Given the description of an element on the screen output the (x, y) to click on. 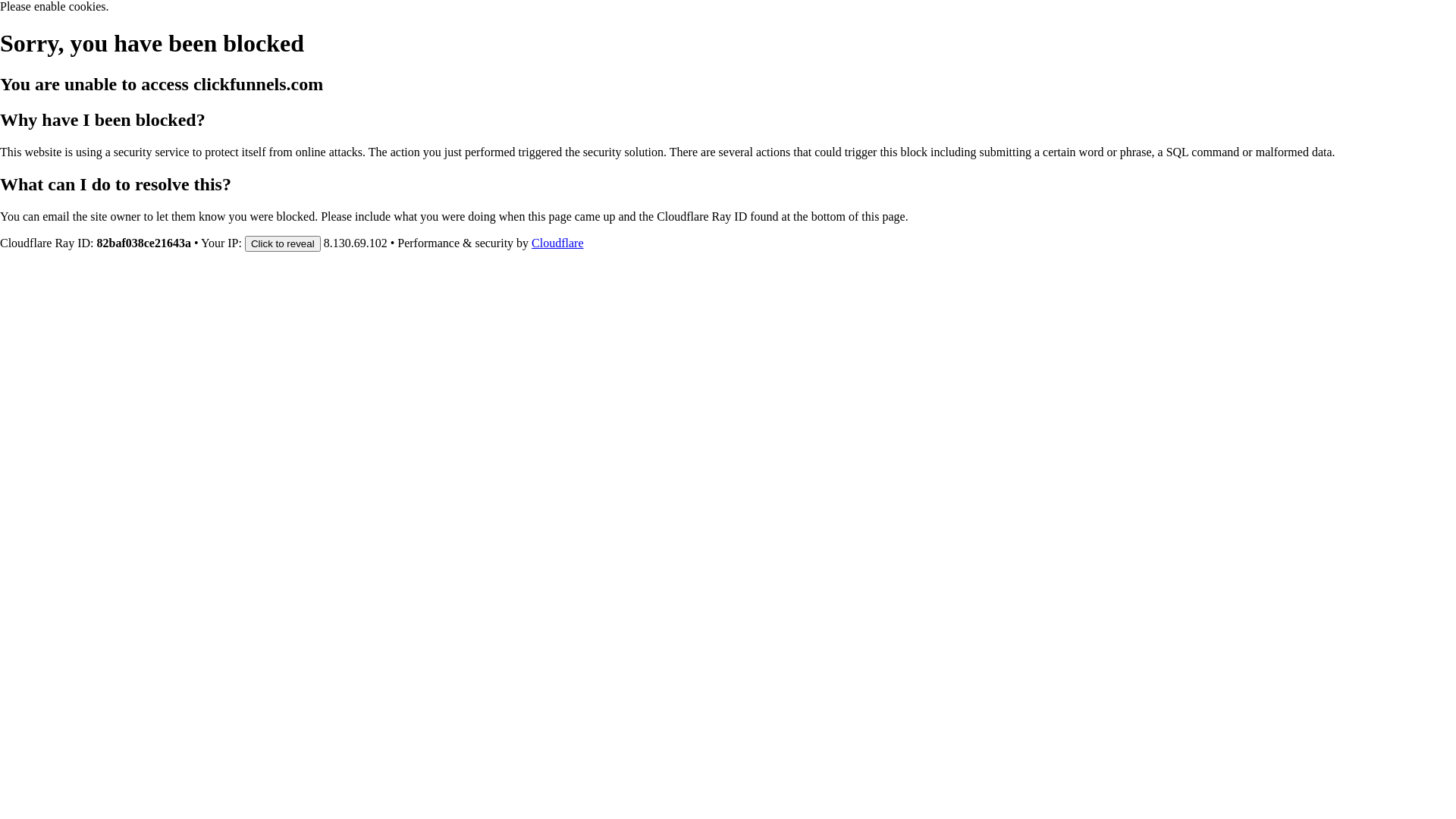
Click to reveal Element type: text (282, 243)
Cloudflare Element type: text (557, 242)
